Given the description of an element on the screen output the (x, y) to click on. 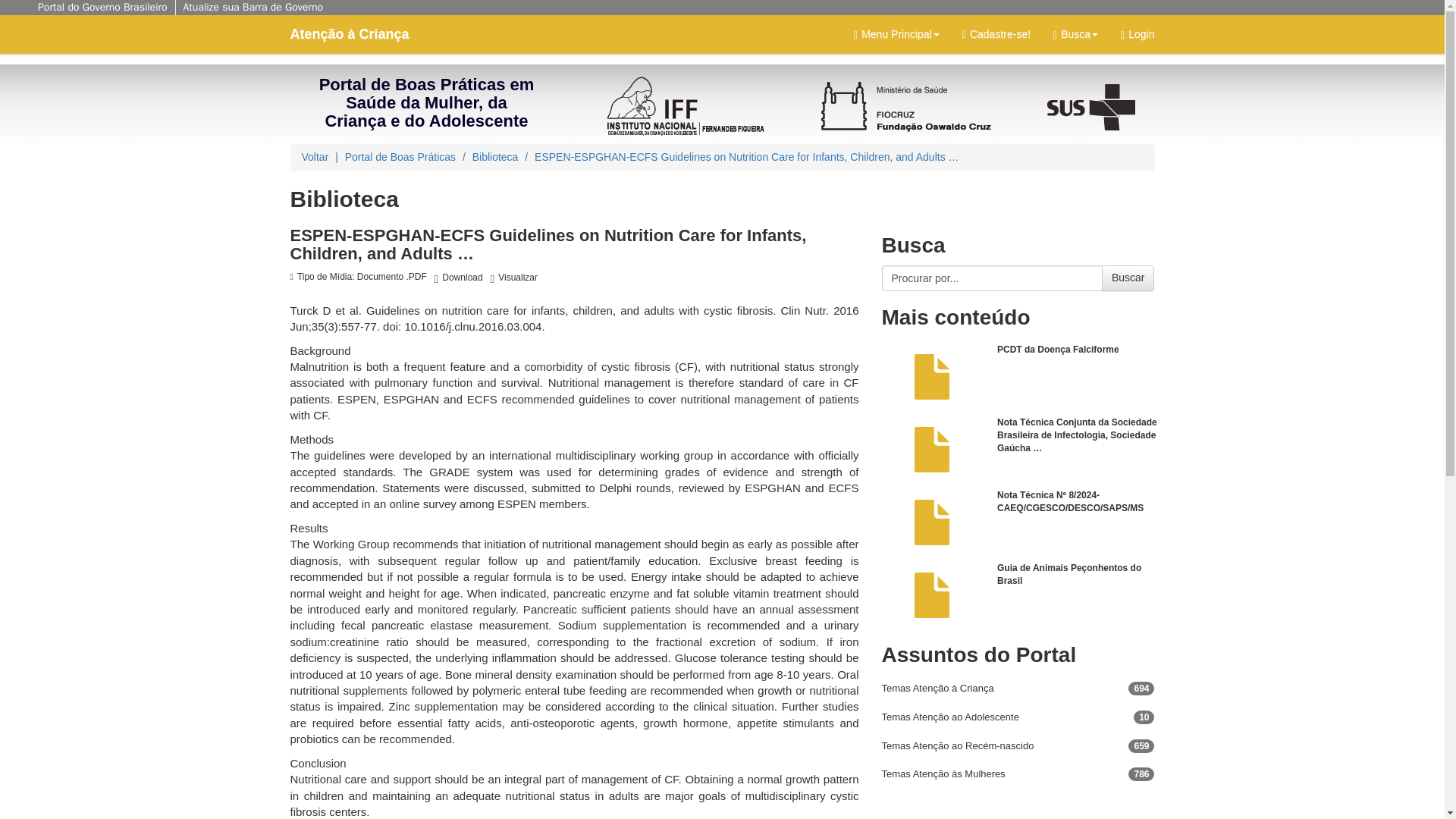
Atualize sua Barra de Governo (253, 6)
Portal do Governo Brasileiro (102, 6)
Menu Principal (896, 34)
Biblioteca (494, 156)
Voltar (315, 156)
Login (1137, 34)
Cadastre-se! (996, 34)
Download (458, 277)
Visualize o documento (513, 277)
Visualizar (513, 277)
Busca (1075, 34)
